Given the description of an element on the screen output the (x, y) to click on. 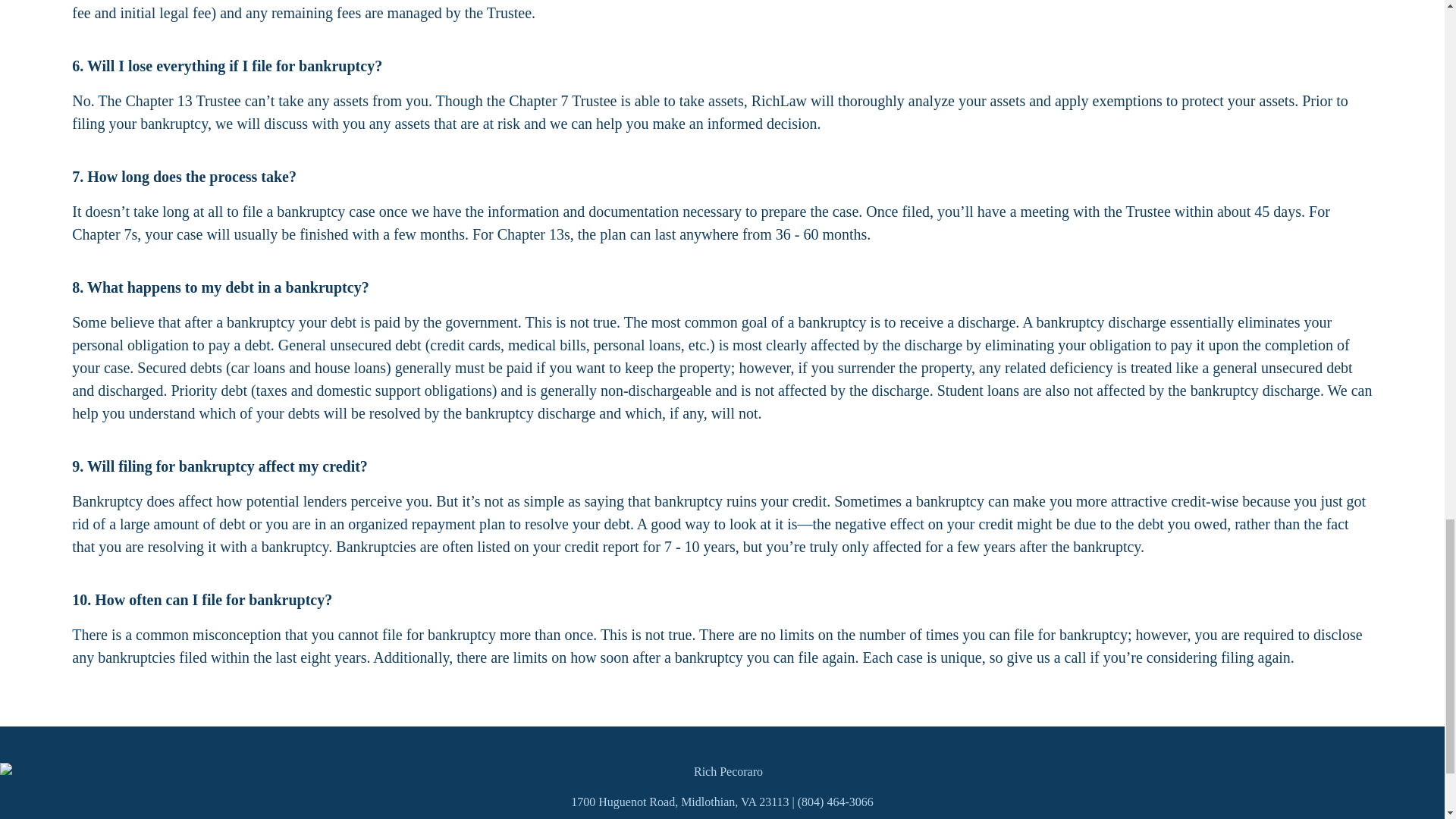
Call now (835, 802)
